Given the description of an element on the screen output the (x, y) to click on. 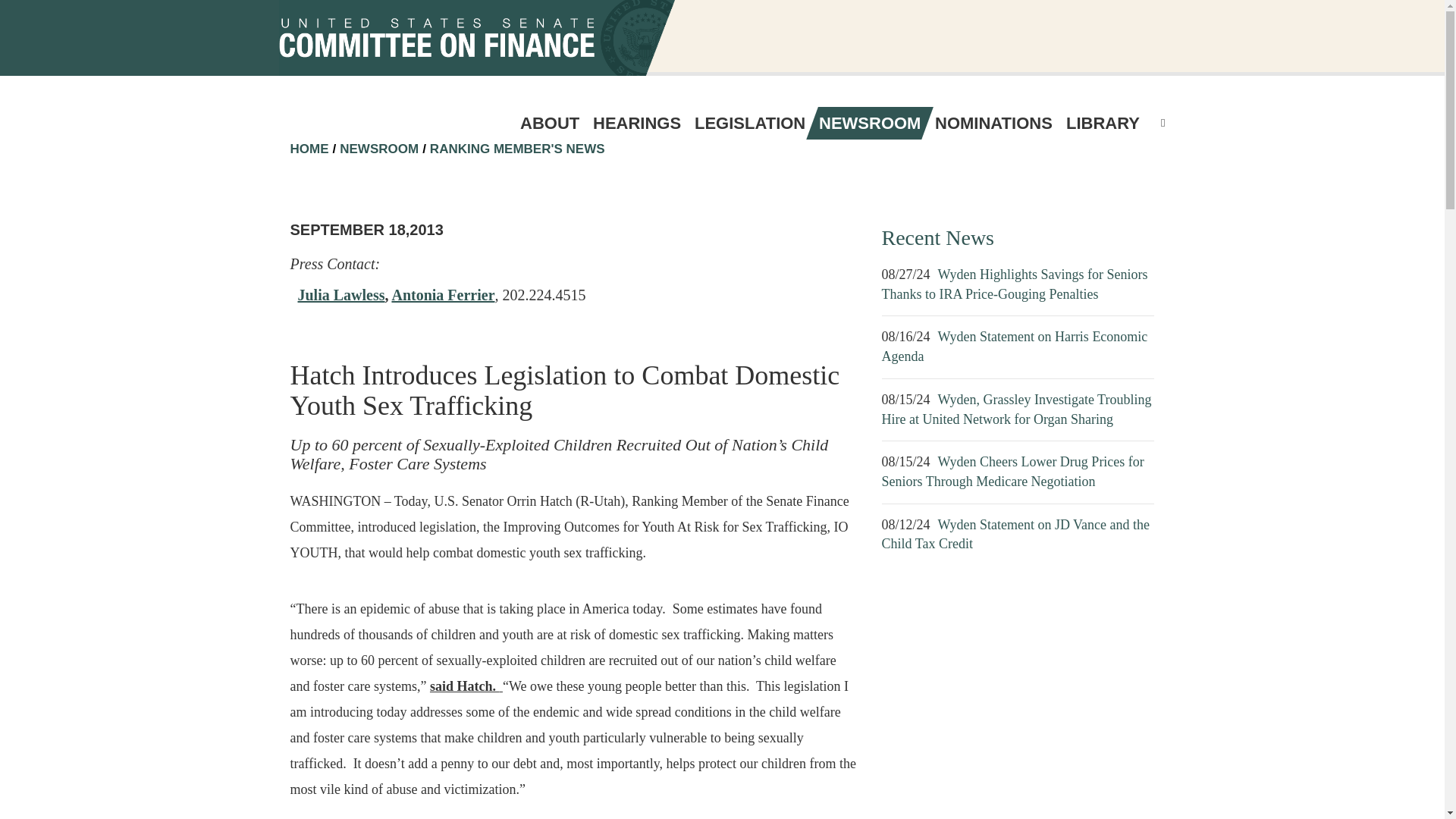
NOMINATIONS (993, 123)
HEARINGS (636, 123)
LEGISLATION (749, 123)
